Given the description of an element on the screen output the (x, y) to click on. 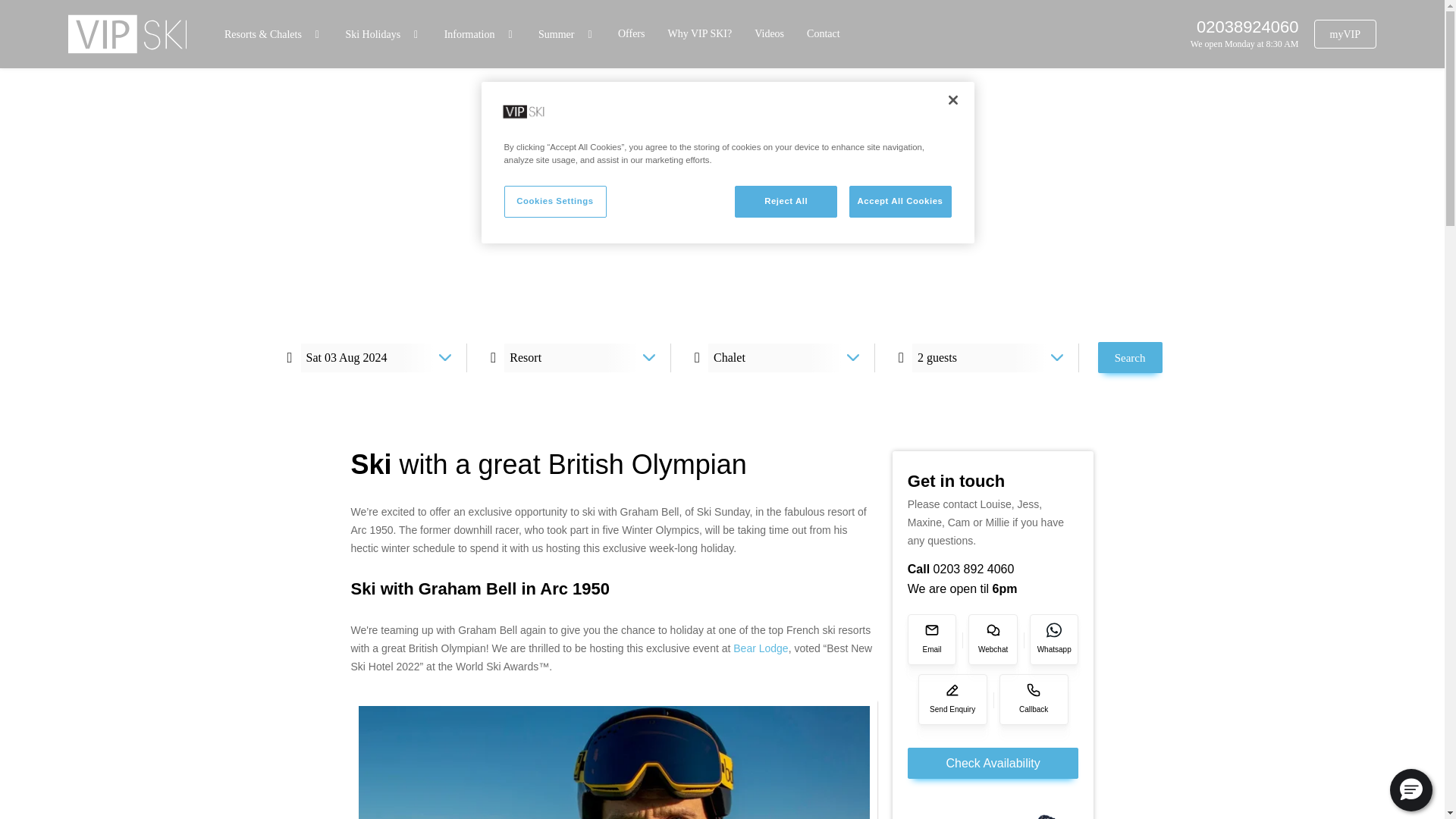
Sat 03 Aug 2024 (372, 357)
2 guests (985, 357)
